Given the description of an element on the screen output the (x, y) to click on. 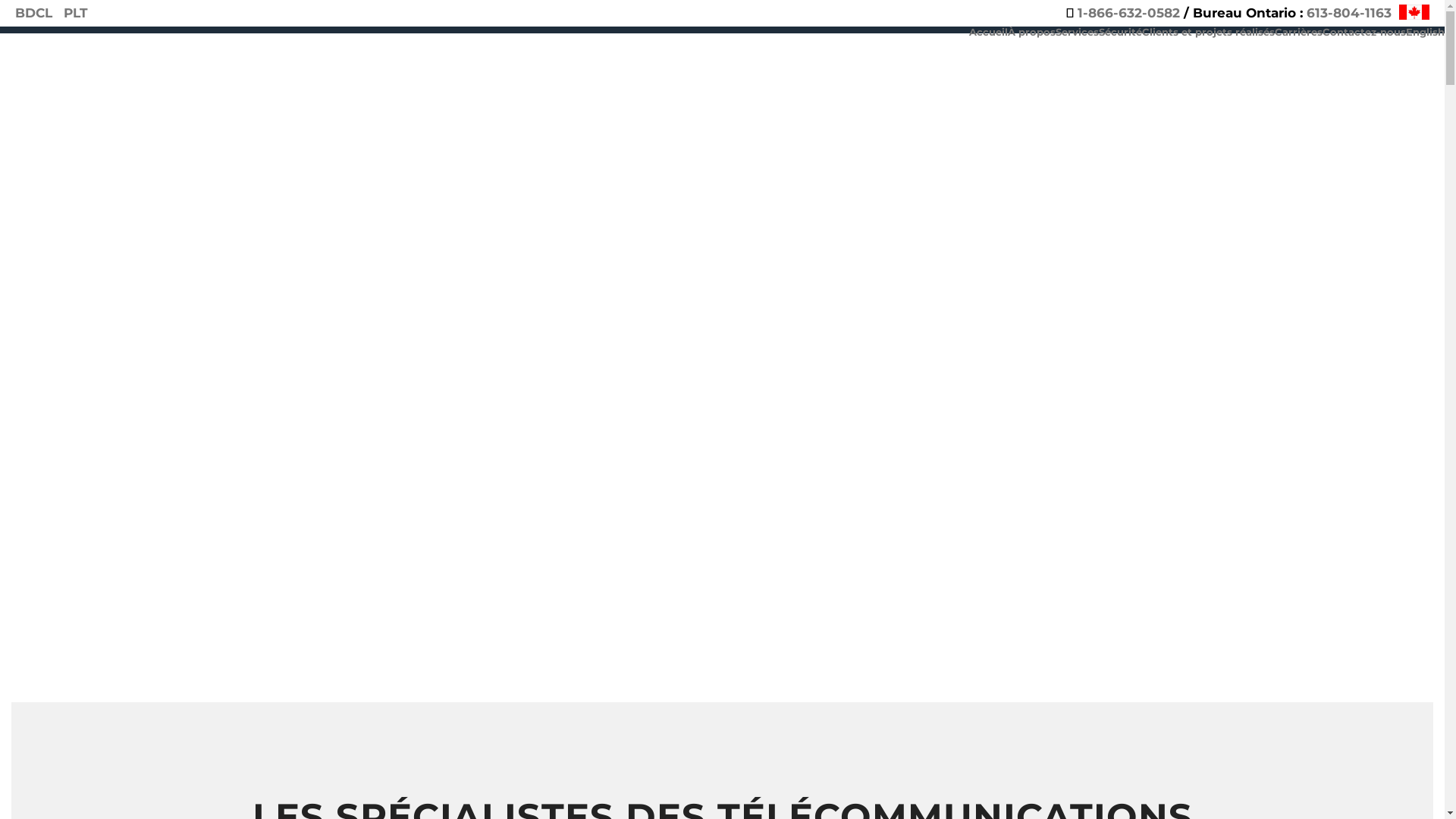
BDCL Element type: text (33, 13)
Contactez-nous Element type: text (1363, 29)
1-866-632-0582 Element type: text (1128, 13)
Accueil Element type: text (988, 29)
English Element type: text (1424, 29)
Services Element type: text (1076, 29)
PLT Element type: text (75, 13)
613-804-1163 Element type: text (1348, 13)
